Given the description of an element on the screen output the (x, y) to click on. 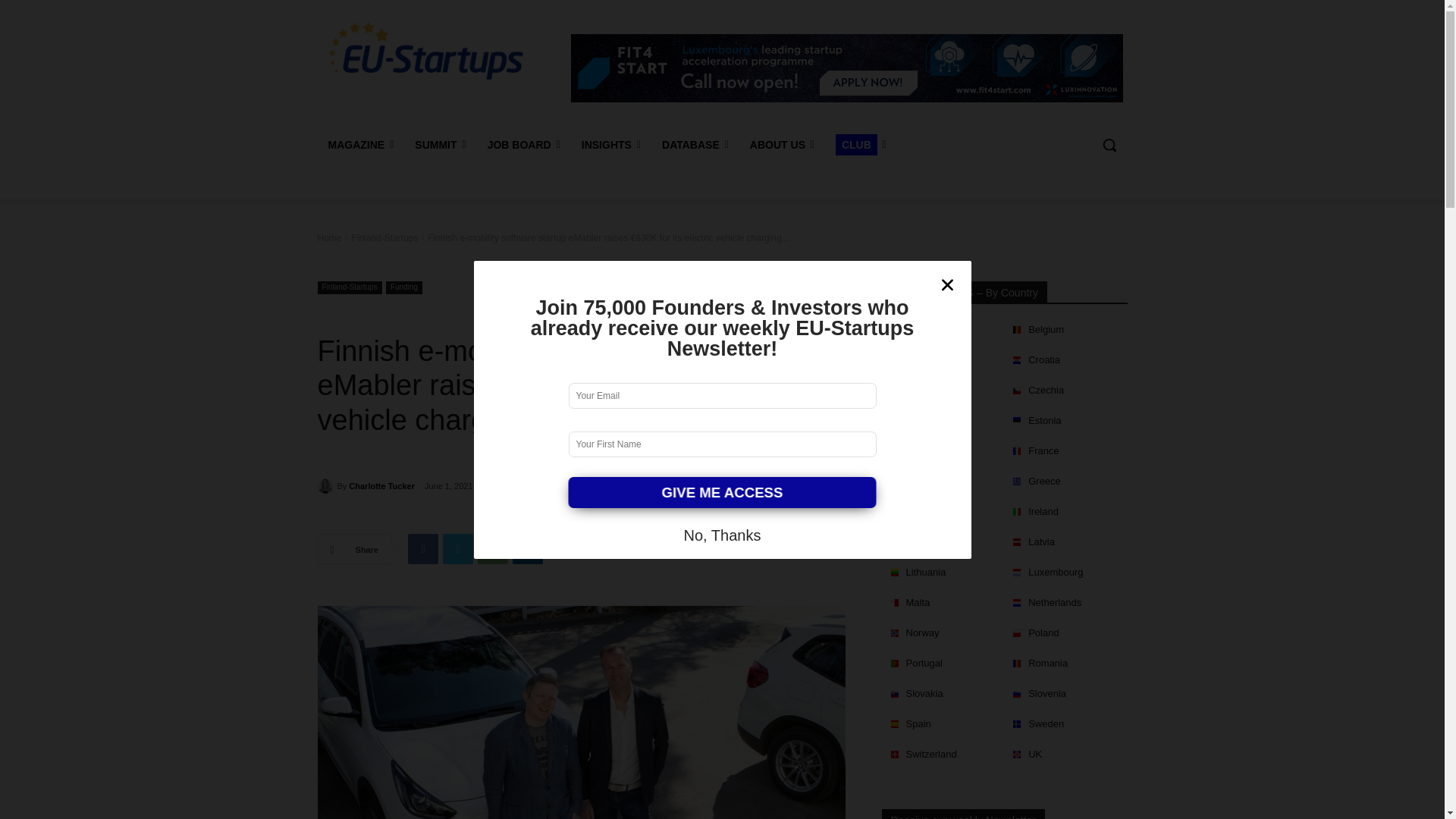
Twitter (457, 548)
Ville Parviainen and Juha Stenberg (580, 712)
Charlotte Tucker (326, 485)
View all posts in Finland-Startups (383, 237)
WhatsApp (492, 548)
Linkedin (527, 548)
Facebook (422, 548)
